Given the description of an element on the screen output the (x, y) to click on. 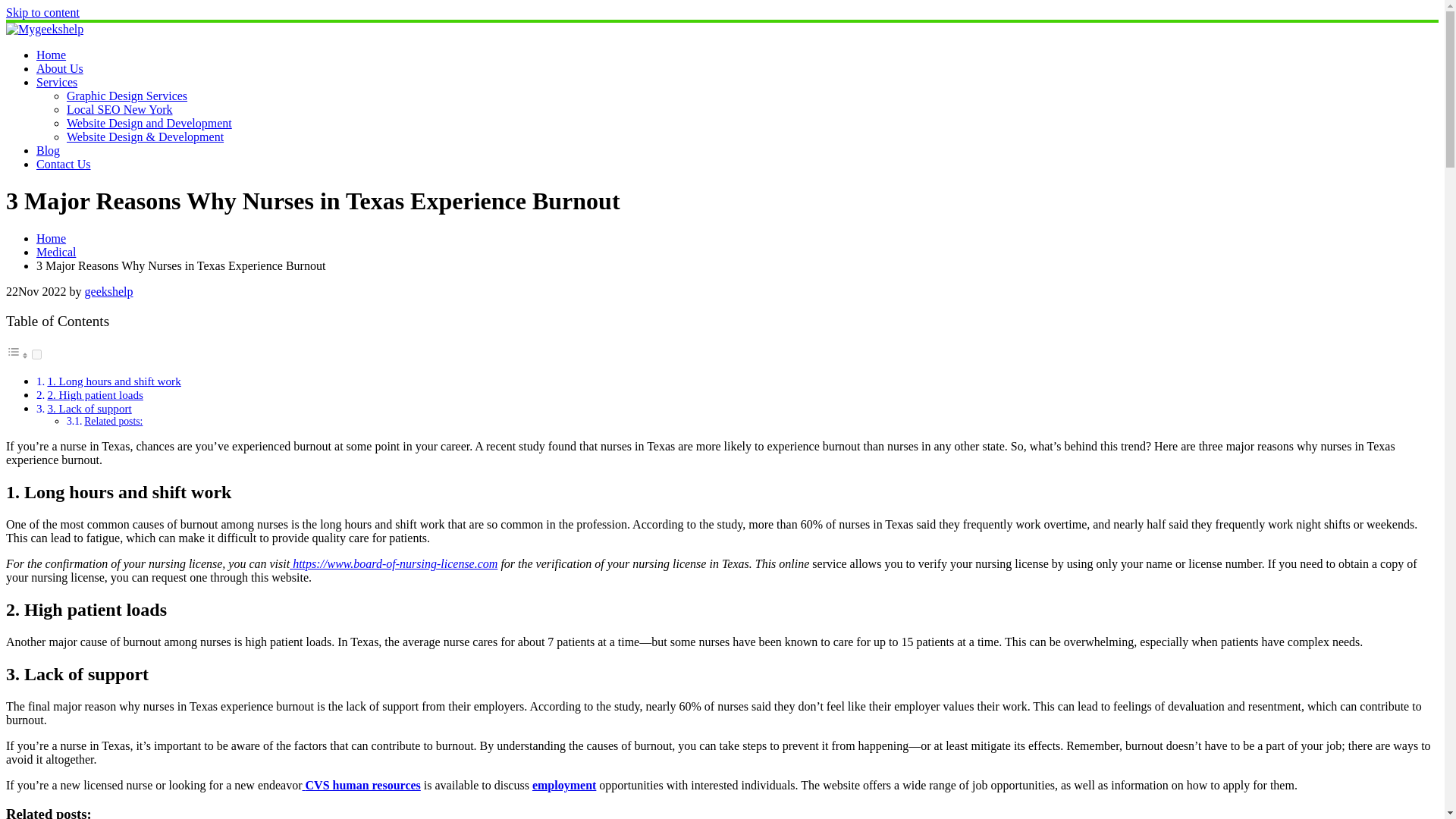
2. High patient loads (94, 394)
Graphic Design Services (126, 95)
Services (56, 82)
employment (563, 784)
Home (50, 237)
1. Long hours and shift work (113, 380)
CVS human resources (361, 784)
Blog (47, 150)
Home (50, 54)
Related posts: (113, 420)
2. High patient loads (94, 394)
Related posts: (113, 420)
About Us (59, 68)
3. Lack of support (88, 408)
Website Design and Development (148, 123)
